Given the description of an element on the screen output the (x, y) to click on. 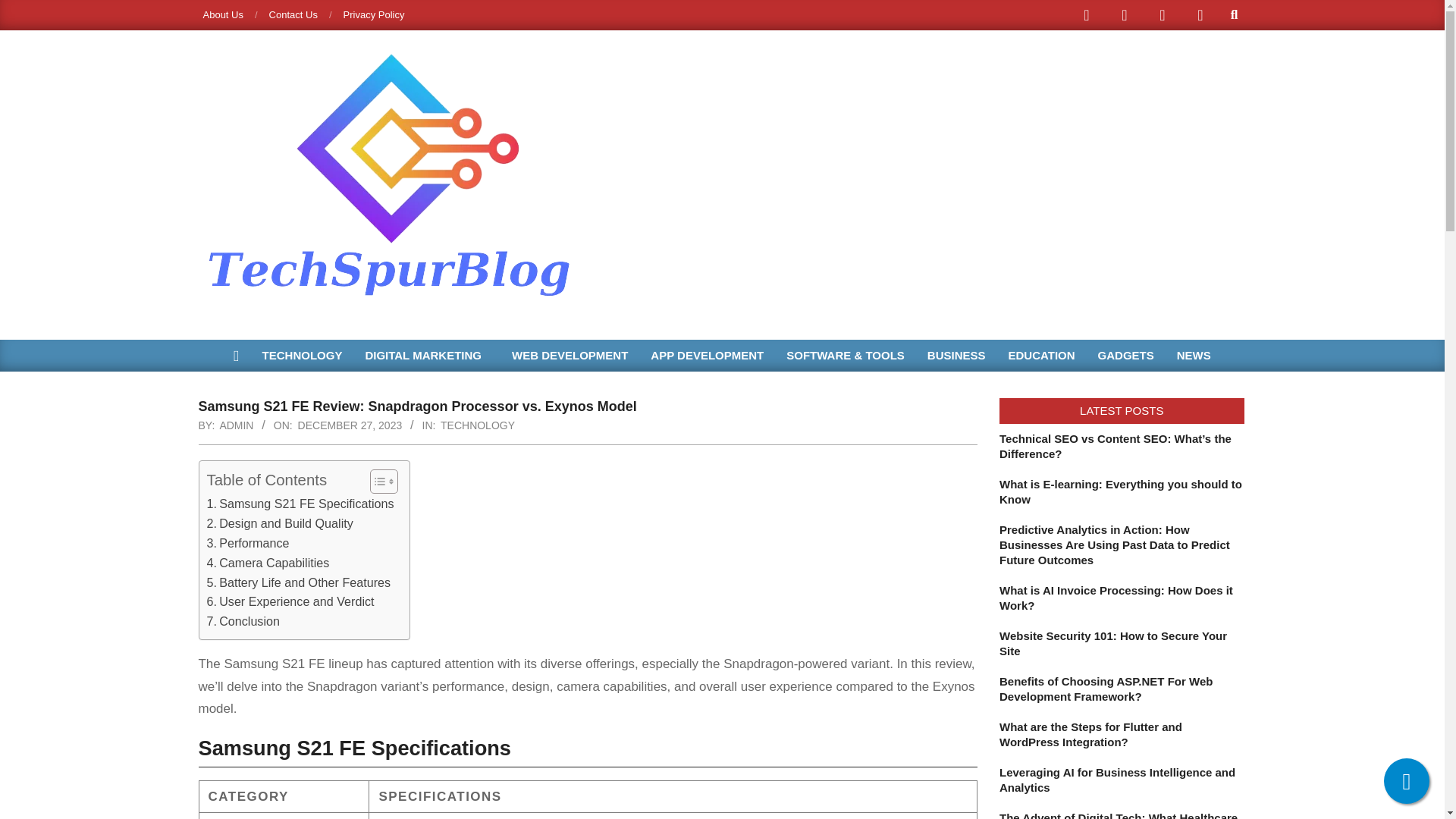
Posts by Admin (236, 425)
User Experience and Verdict (290, 601)
Conclusion (242, 621)
Camera Capabilities (267, 563)
Camera Capabilities (267, 563)
Samsung S21 FE Specifications (299, 504)
APP DEVELOPMENT (706, 355)
Design and Build Quality (279, 523)
Contact Us (293, 14)
User Experience and Verdict (290, 601)
